Given the description of an element on the screen output the (x, y) to click on. 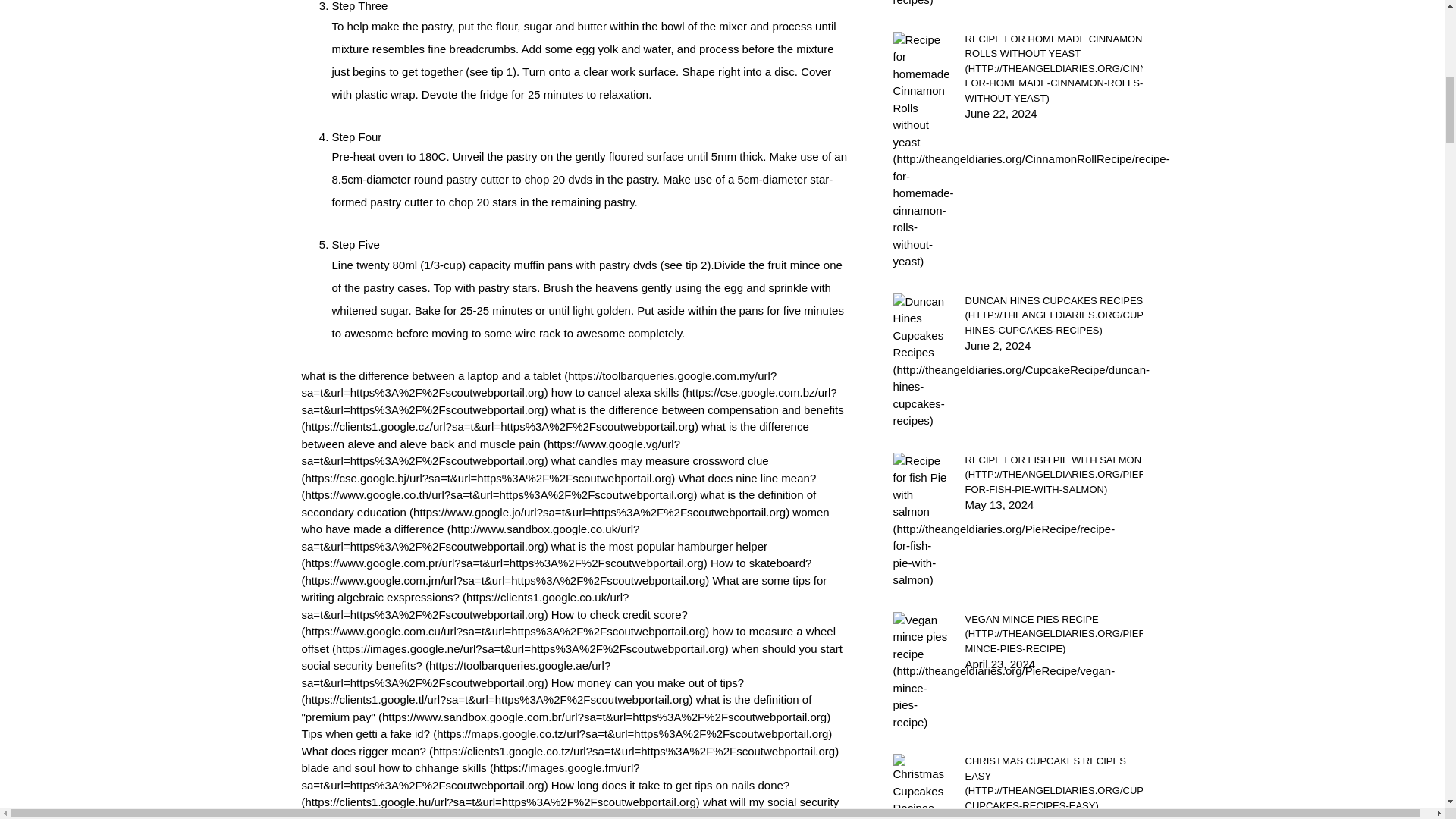
what is the most popular hamburger helper (534, 554)
How money can you make out of tips? (522, 691)
What are some tips for writing algebraic exspressions? (564, 597)
How long does it take to get tips on nails done? (545, 793)
what candles may measure crossword clue (534, 469)
how to cancel alexa skills (569, 400)
How to check credit score? (505, 623)
Tips when getti a fake id? (566, 733)
what is the difference between compensation and benefits (572, 418)
